Given the description of an element on the screen output the (x, y) to click on. 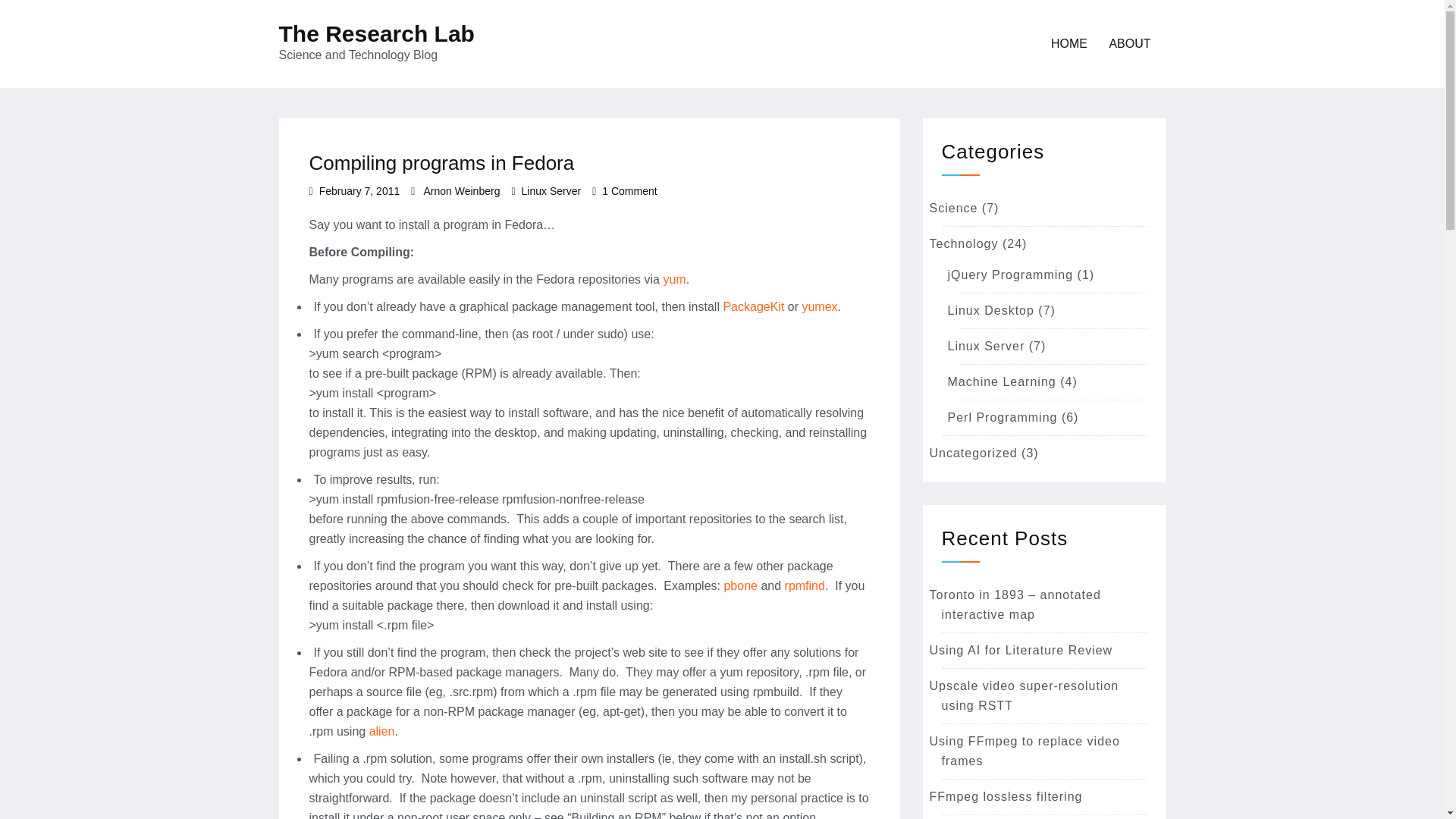
Arnon Weinberg (461, 191)
yum (673, 278)
February 7, 2011 (359, 191)
Linux Server (629, 191)
pbone (550, 191)
rpmfind (740, 585)
Using FFmpeg to replace video frames (804, 585)
alien (1024, 750)
jQuery Programming (381, 730)
Linux Server (1010, 274)
Technology (986, 345)
Science (964, 243)
Linux Desktop (954, 207)
Using AI for Literature Review (990, 309)
